Given the description of an element on the screen output the (x, y) to click on. 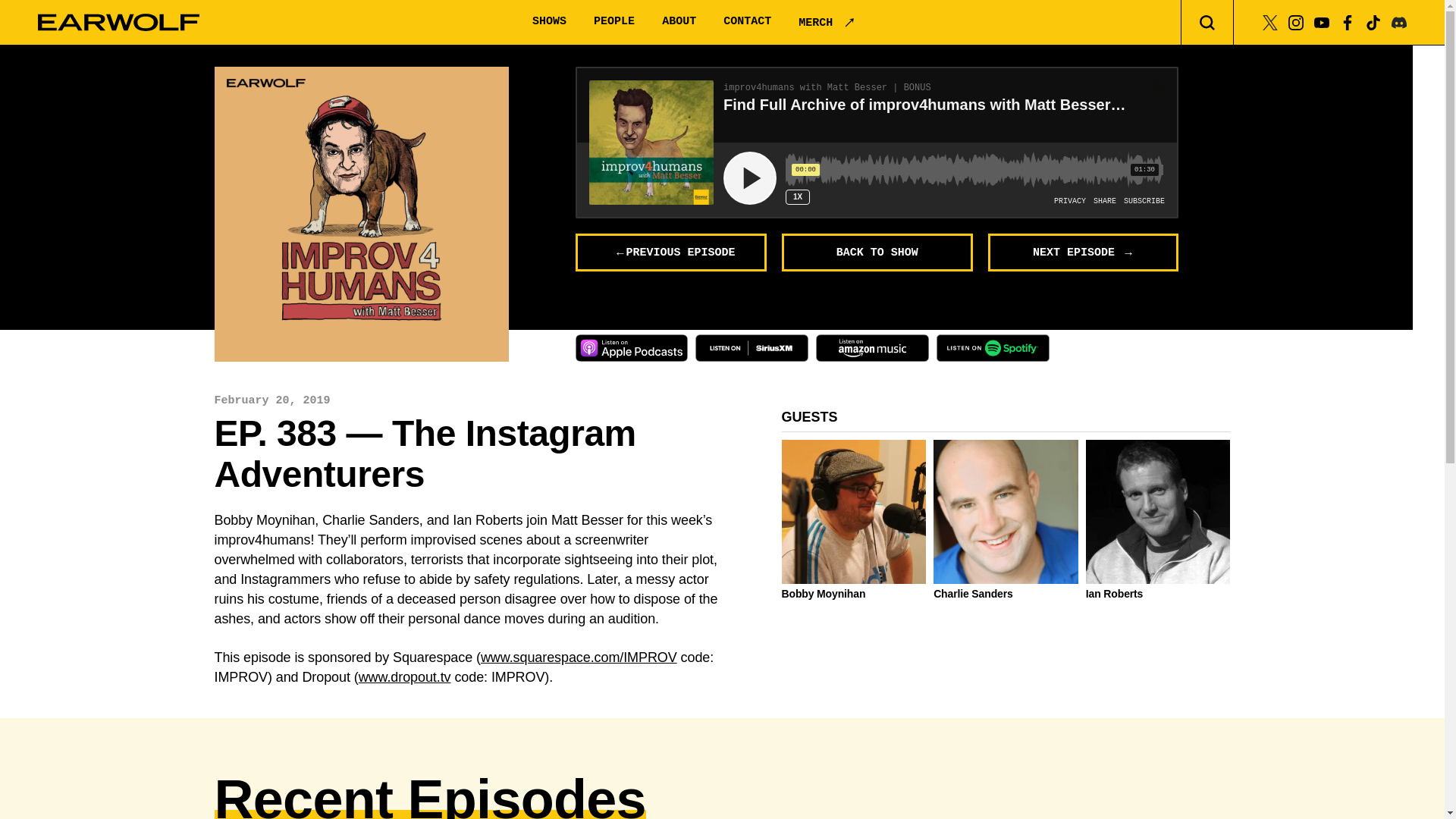
www.dropout.tv (404, 676)
Tiktok (1372, 21)
SHOWS (549, 21)
Earwolf (118, 22)
YouTube (1321, 21)
BACK TO SHOW (876, 252)
ABOUT (678, 21)
Charlie Sanders (1005, 593)
PEOPLE (614, 21)
Toggle Search (1206, 22)
